Given the description of an element on the screen output the (x, y) to click on. 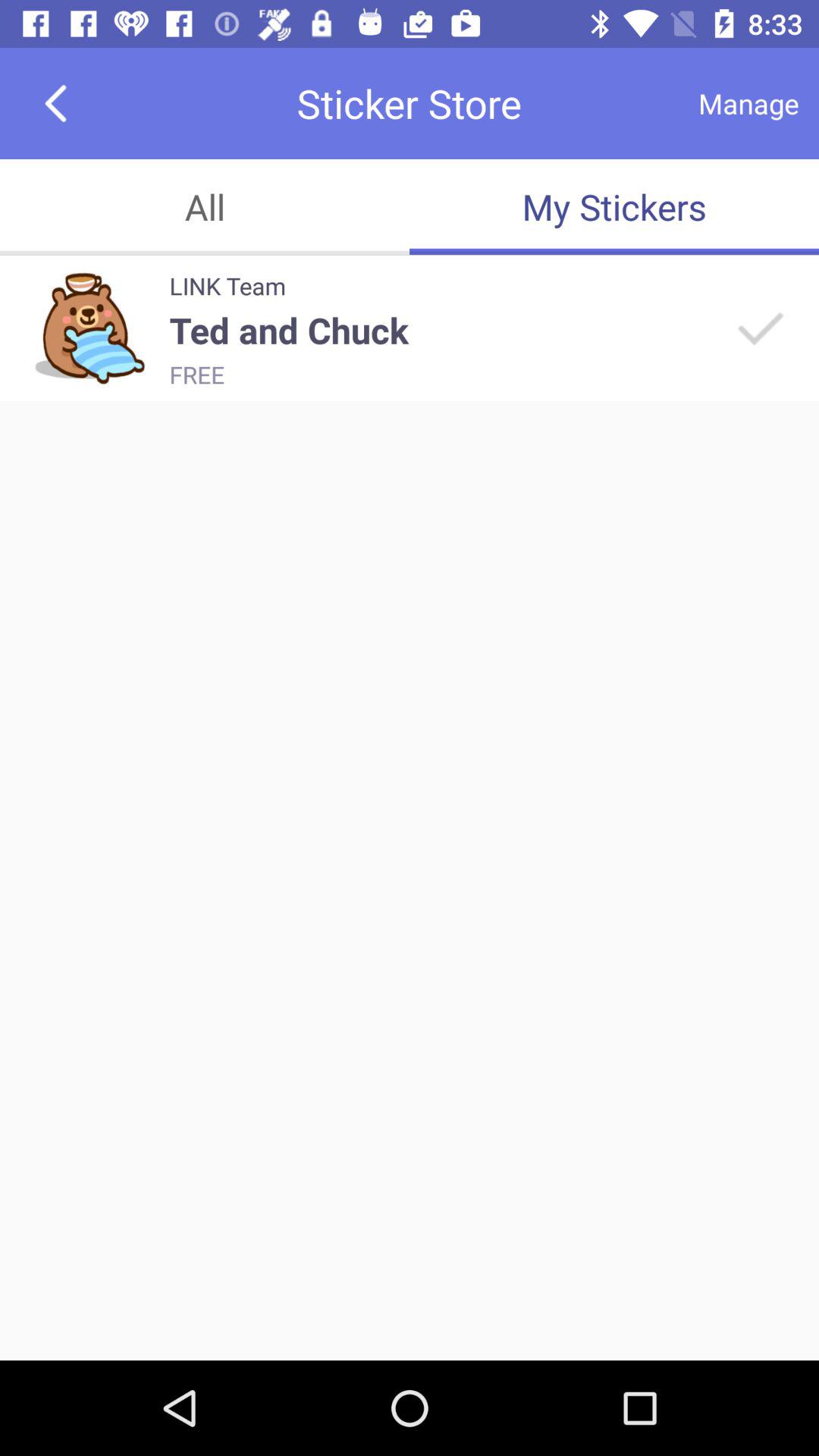
click icon above the all (55, 103)
